Given the description of an element on the screen output the (x, y) to click on. 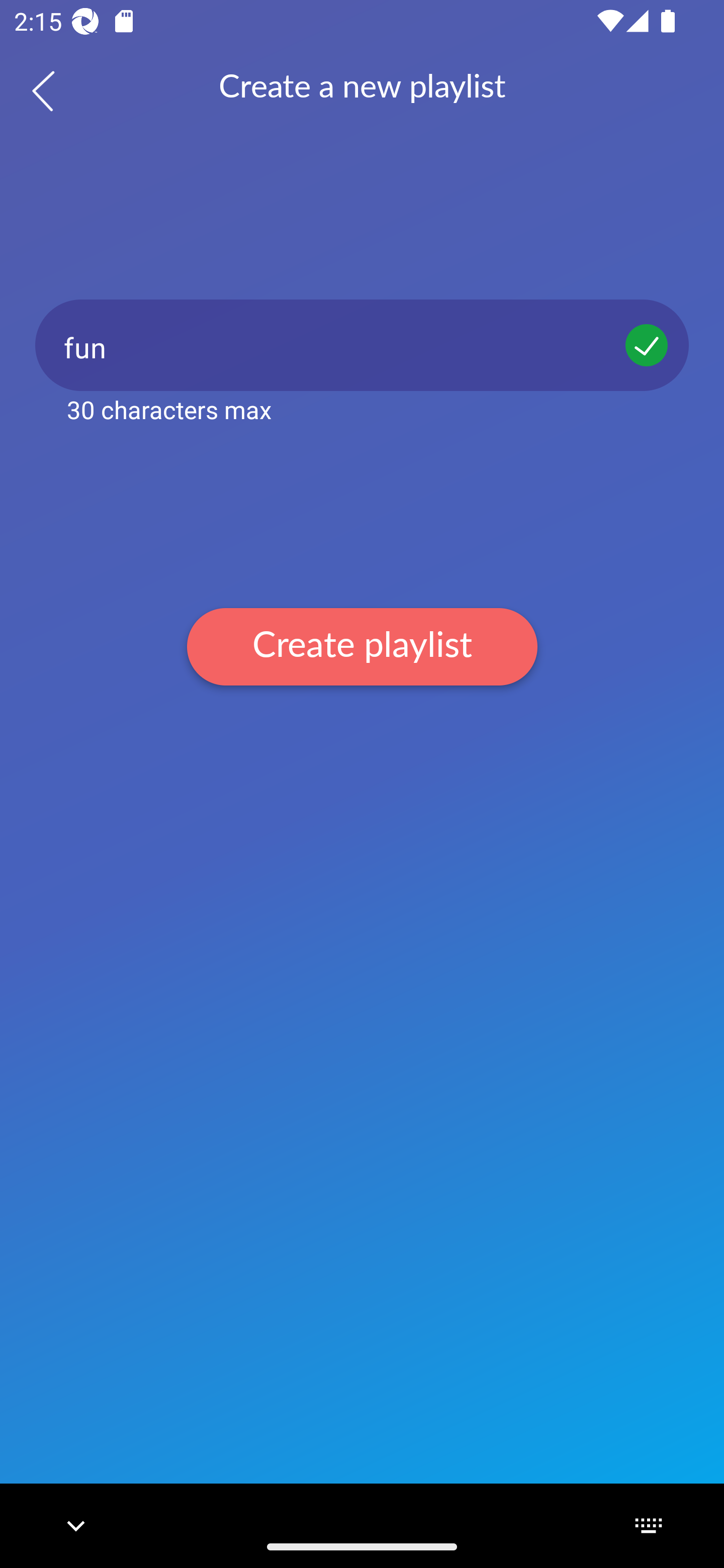
fun (361, 344)
Create playlist (362, 646)
